Given the description of an element on the screen output the (x, y) to click on. 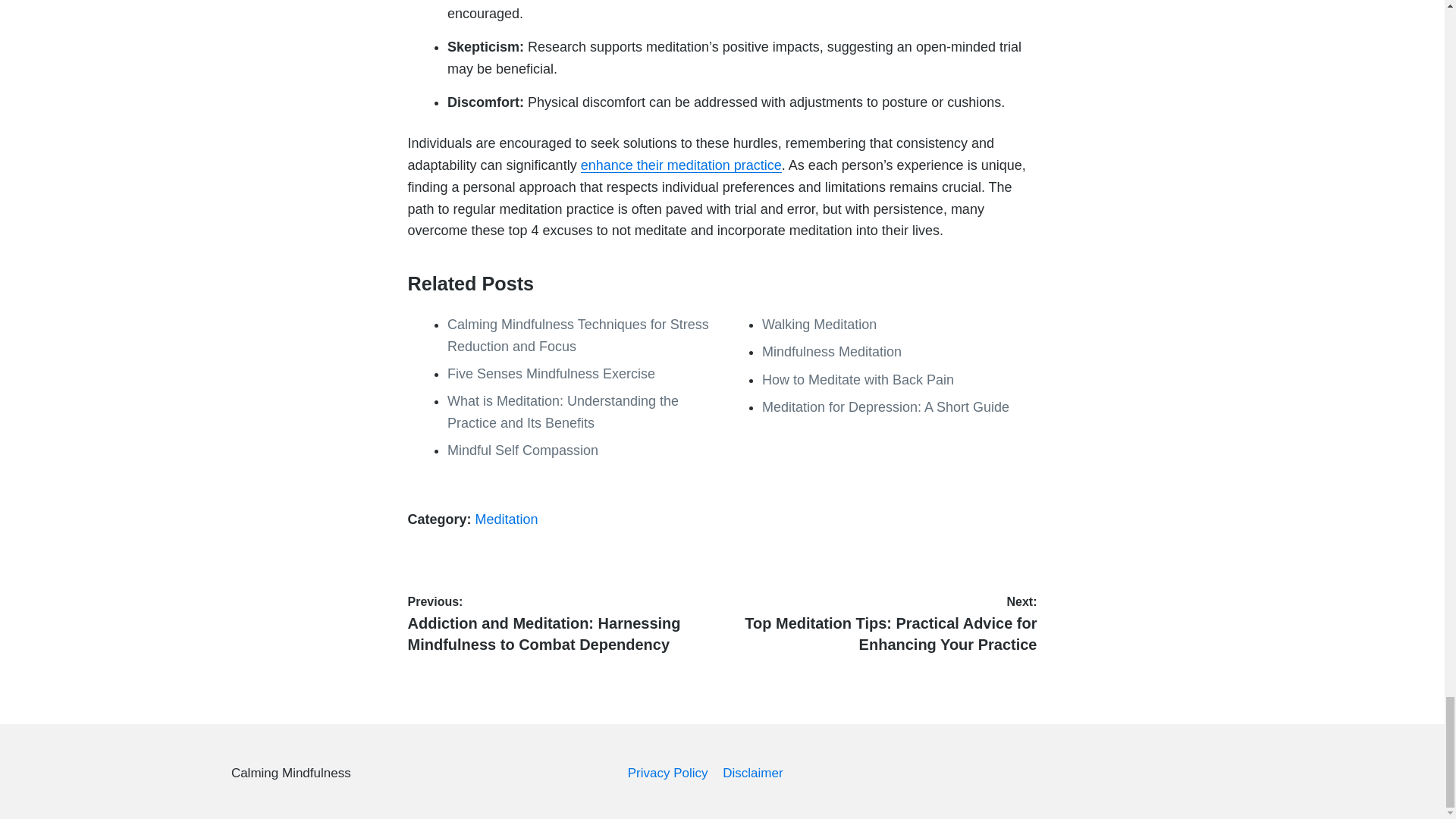
Mindfulness Meditation (831, 351)
Privacy Policy (667, 772)
Five Senses Mindfulness Exercise (550, 373)
Disclaimer (752, 772)
Walking Meditation (818, 324)
How to Meditate with Back Pain (857, 379)
Mindful Self Compassion (522, 450)
enhance their meditation practice (680, 165)
